Given the description of an element on the screen output the (x, y) to click on. 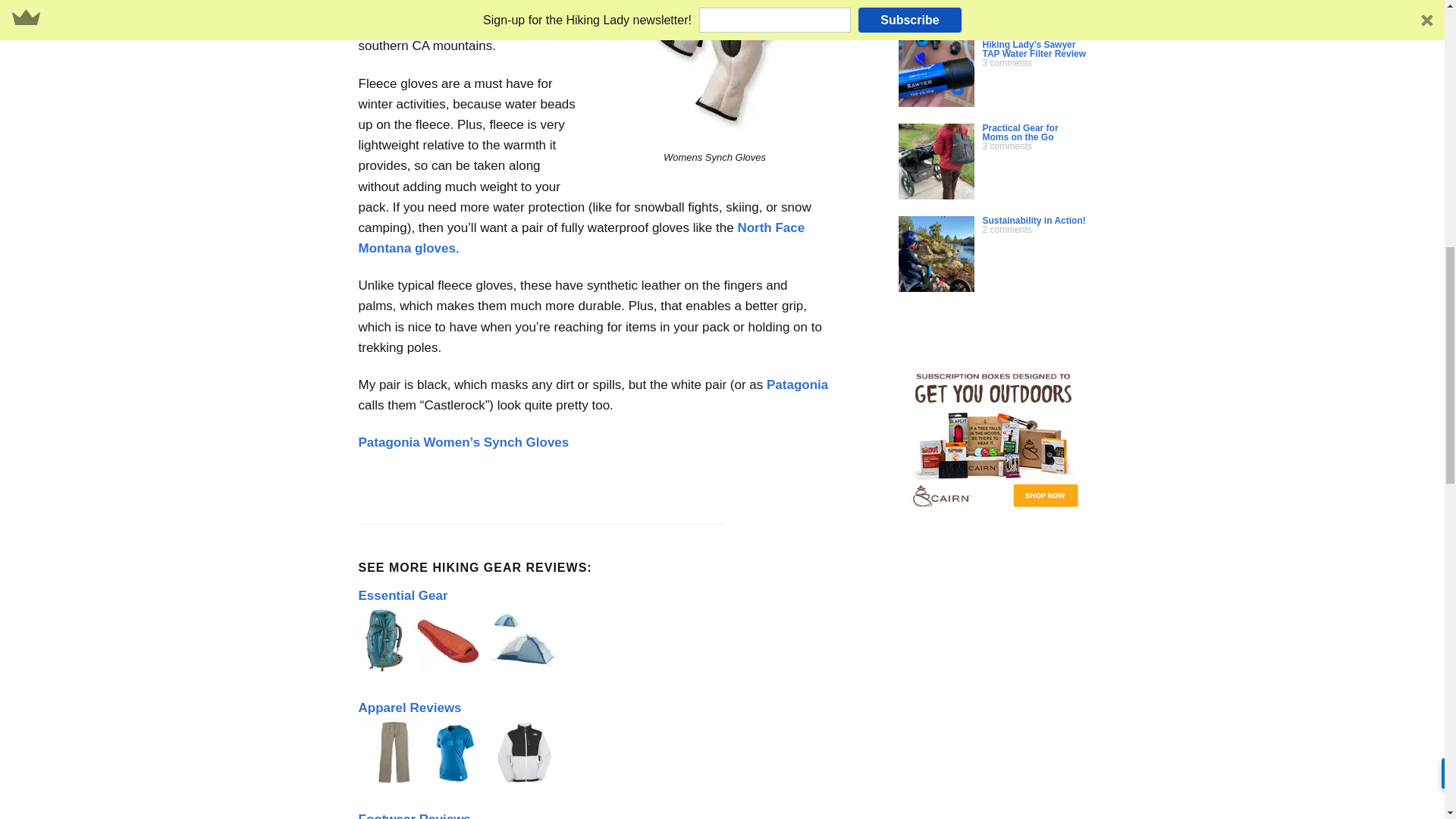
Footwear Reviews (414, 815)
Essential Gear (460, 670)
Apparel Reviews (460, 752)
Essential Gear (460, 640)
Apparel Reviews (409, 707)
Essential Gear (402, 595)
Patagonia Women's Synch Gloves (713, 71)
Apparel Reviews (460, 781)
